Given the description of an element on the screen output the (x, y) to click on. 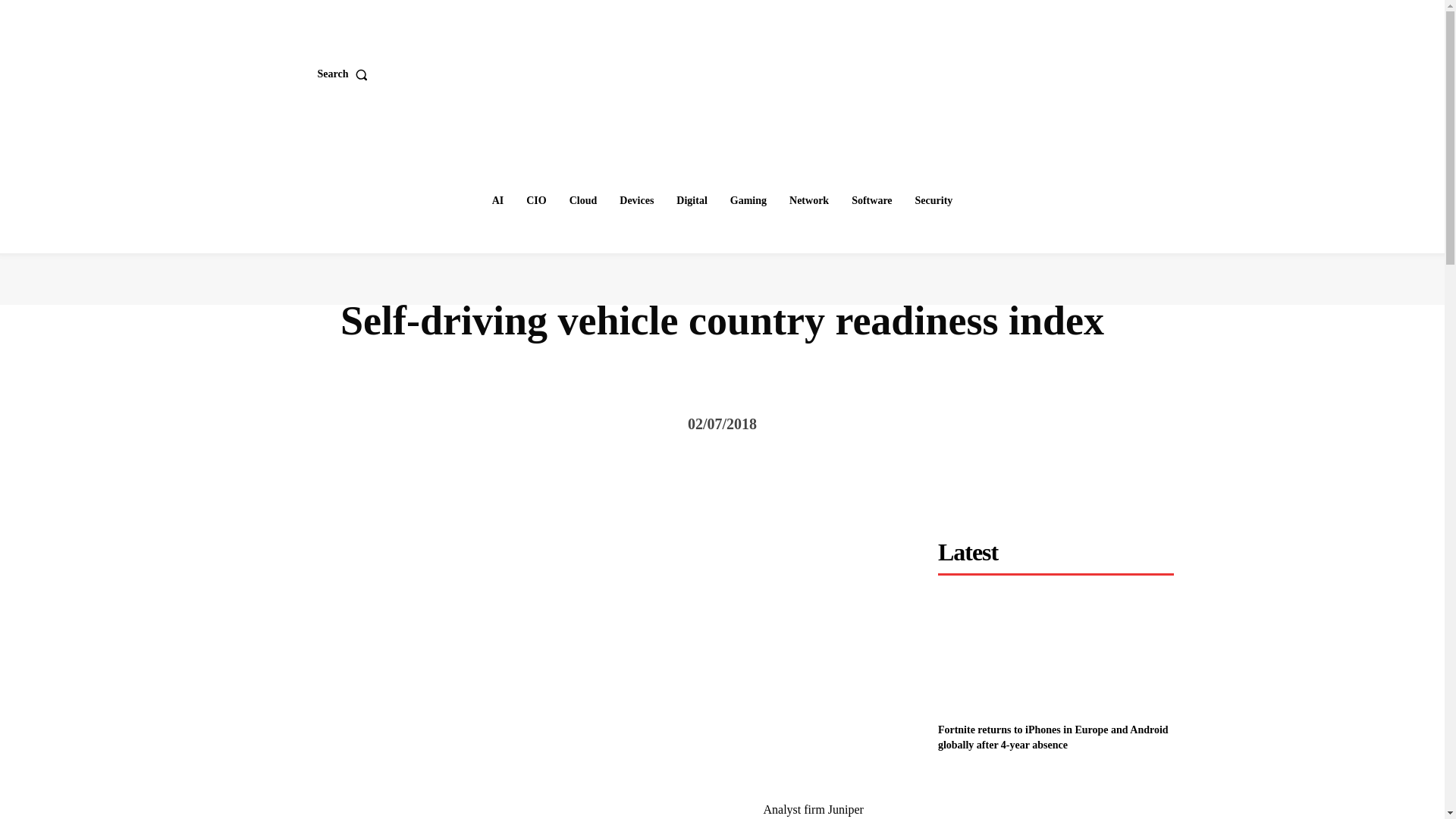
Search (345, 74)
Cloud (583, 201)
CIO (535, 201)
